Given the description of an element on the screen output the (x, y) to click on. 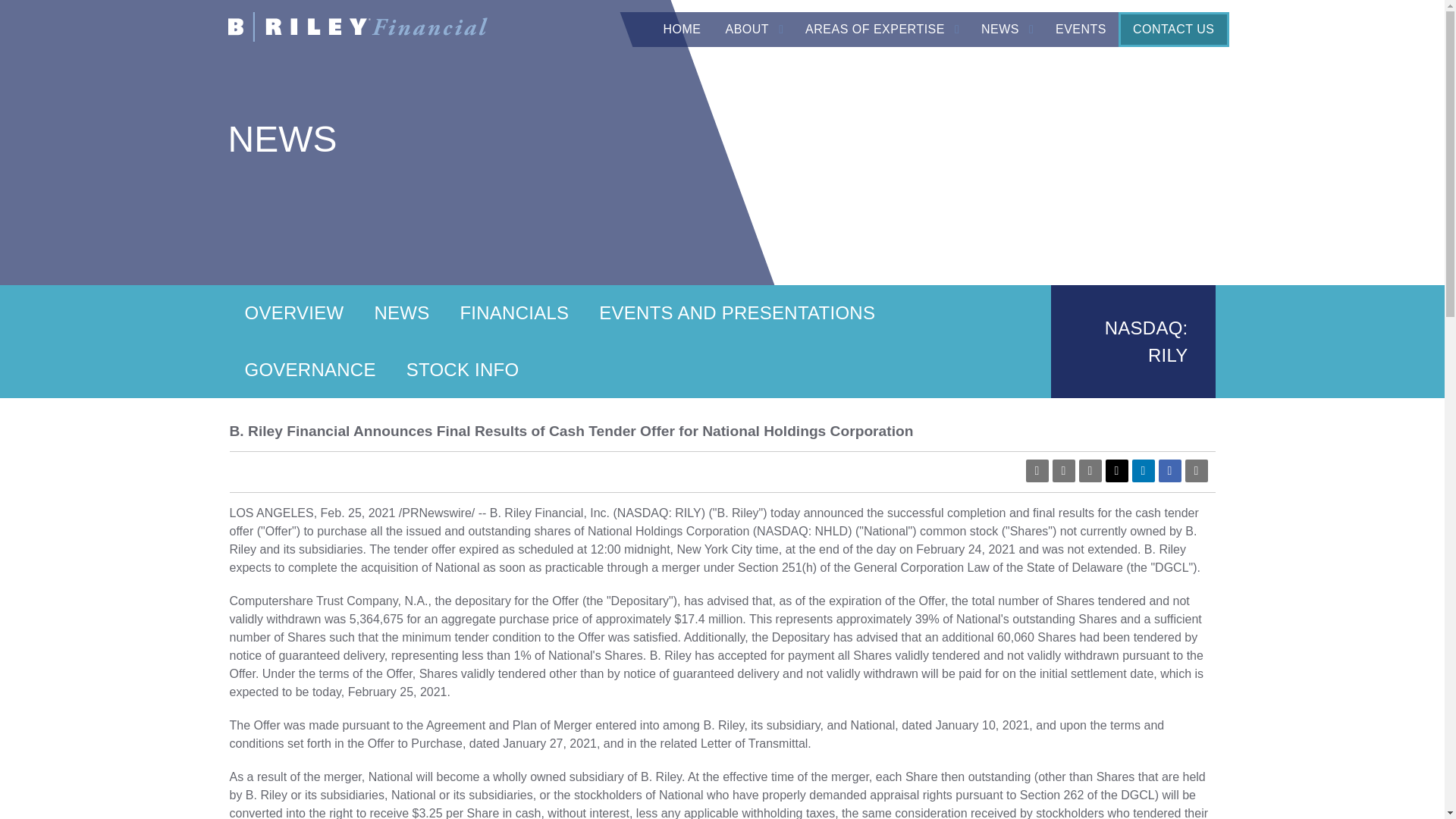
rss (1063, 470)
print (1196, 470)
Twitter Share (1116, 470)
pdf (1036, 470)
Linkedin Share (1142, 470)
Facebook Share (1169, 470)
email (1089, 470)
